Given the description of an element on the screen output the (x, y) to click on. 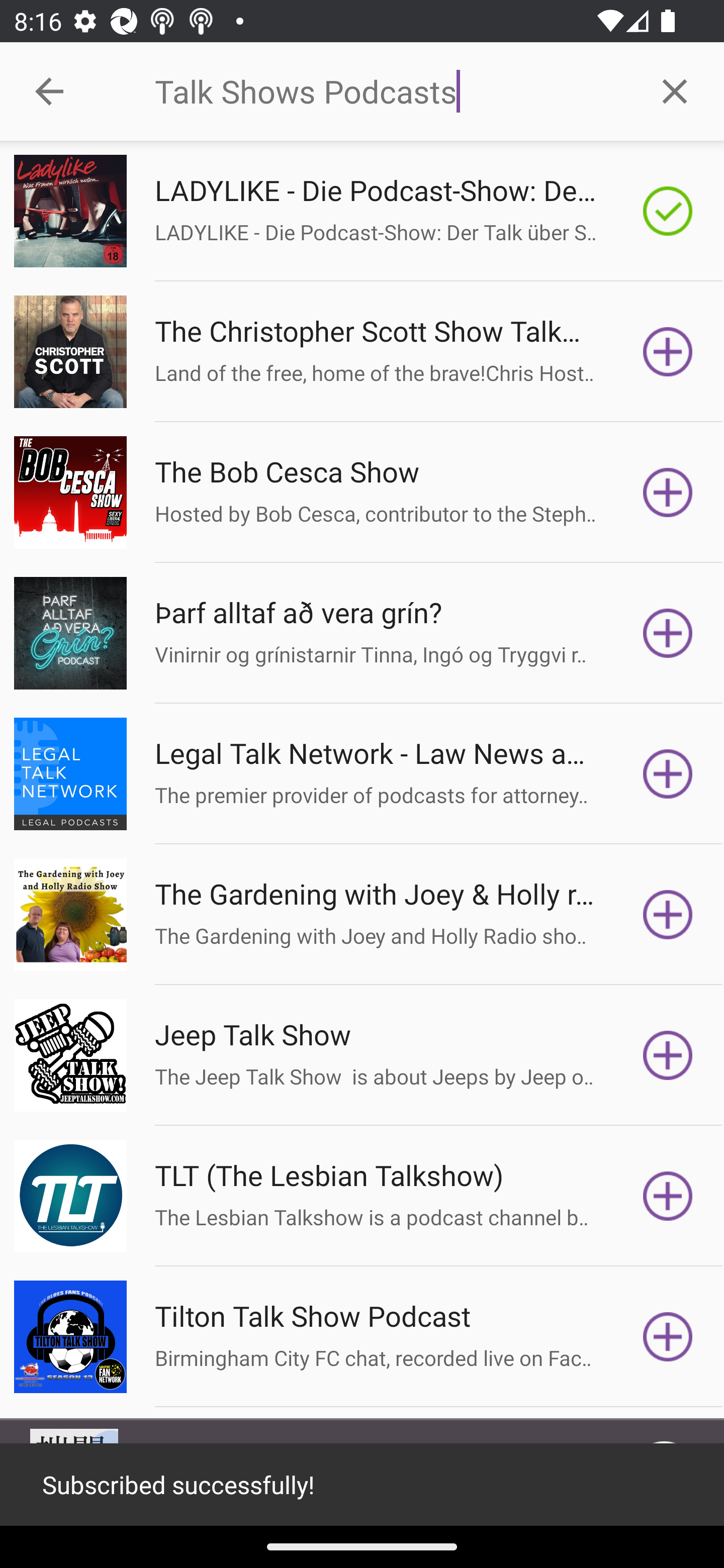
Collapse (49, 91)
Clear query (674, 90)
Talk Shows Podcasts (389, 91)
Subscribed (667, 211)
Subscribe (667, 350)
Subscribe (667, 491)
Subscribe (667, 633)
Subscribe (667, 773)
Subscribe (667, 913)
Subscribe (667, 1054)
Subscribe (667, 1195)
Subscribe (667, 1336)
Subscribed successfully! (362, 1484)
